Given the description of an element on the screen output the (x, y) to click on. 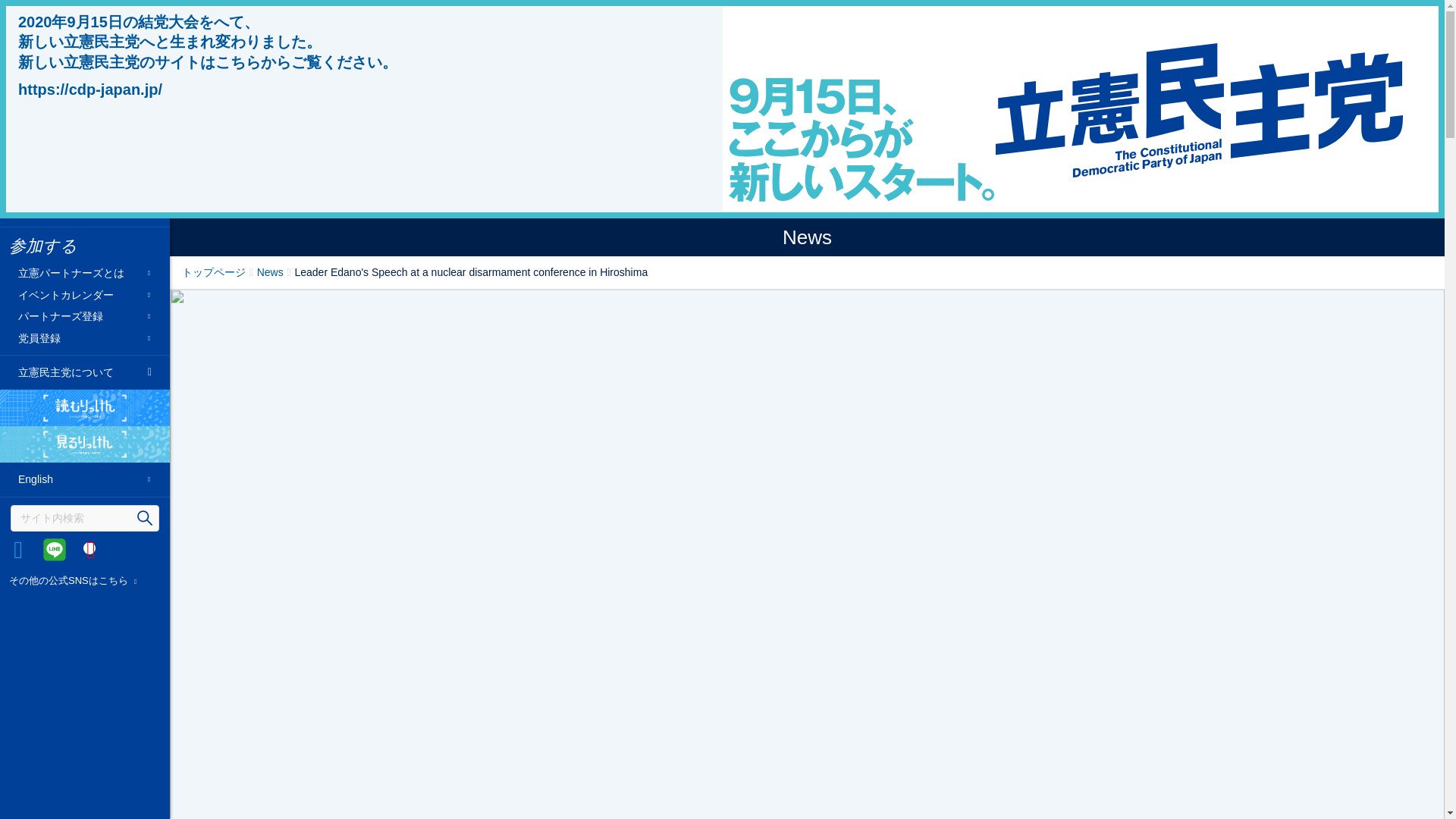
Twitter (17, 549)
Youtube (90, 549)
English (84, 479)
